Given the description of an element on the screen output the (x, y) to click on. 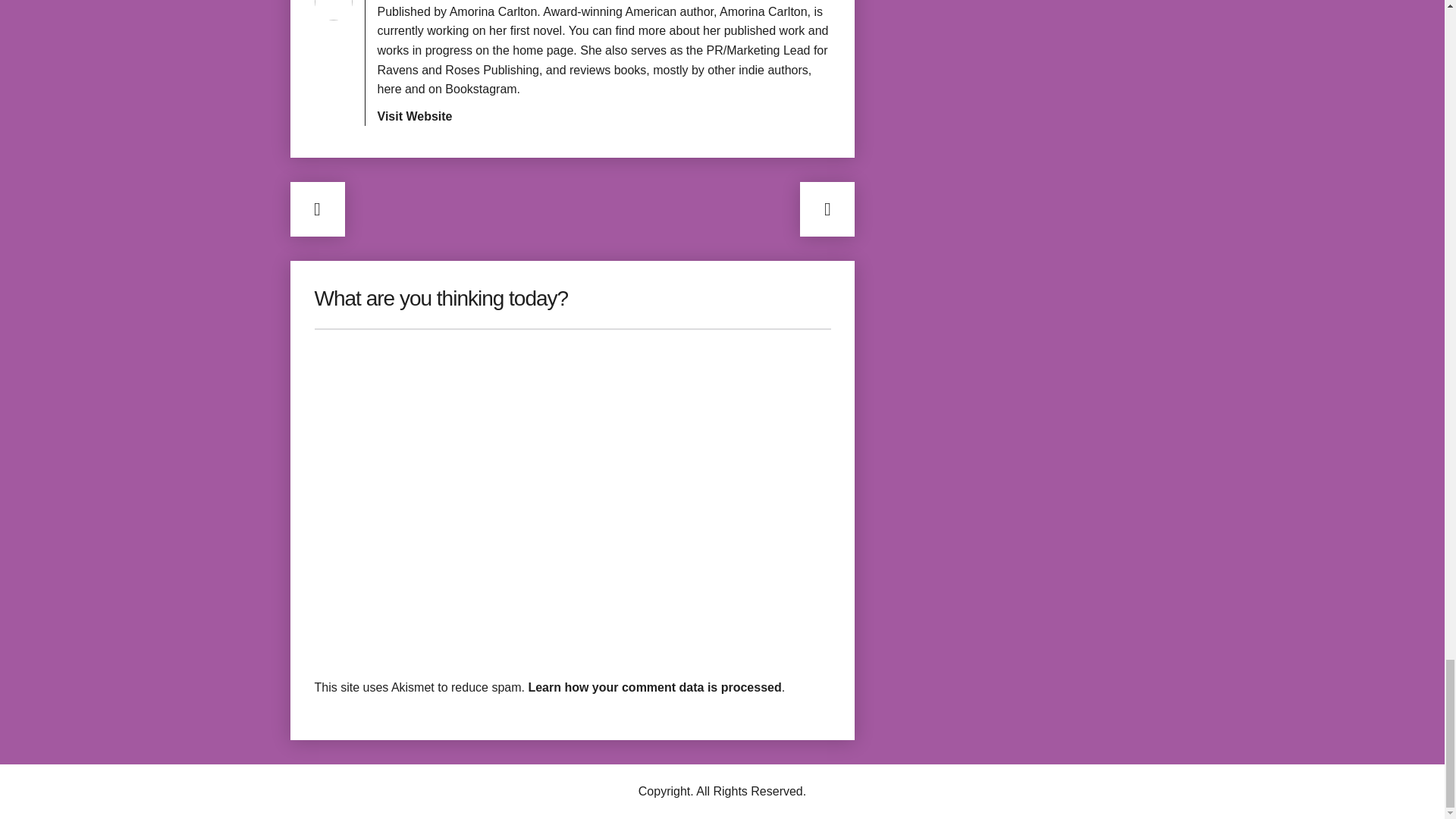
Learn how your comment data is processed (653, 686)
Visit Website (414, 115)
